Given the description of an element on the screen output the (x, y) to click on. 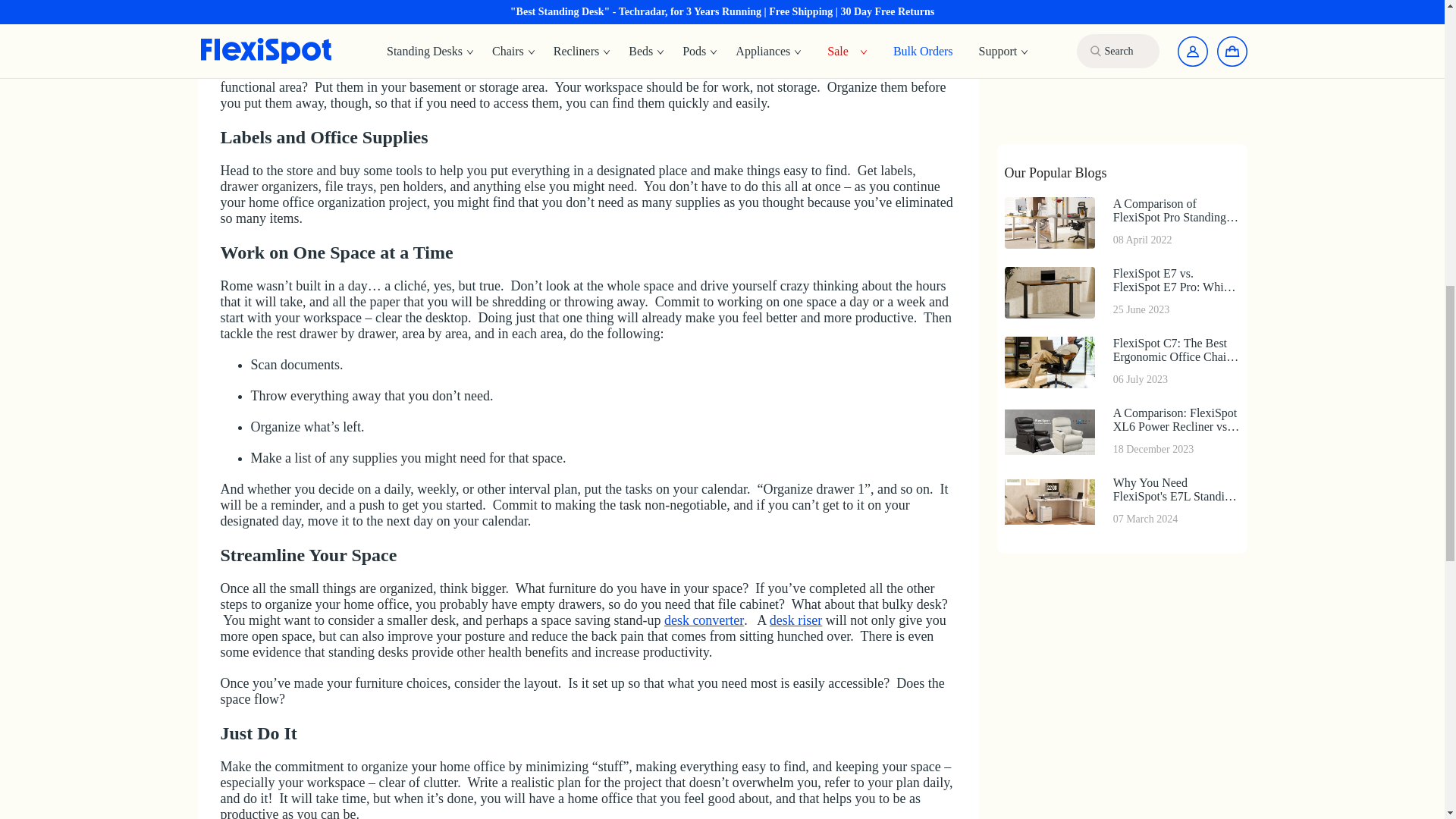
desk riser (796, 620)
desk converter (703, 620)
